Given the description of an element on the screen output the (x, y) to click on. 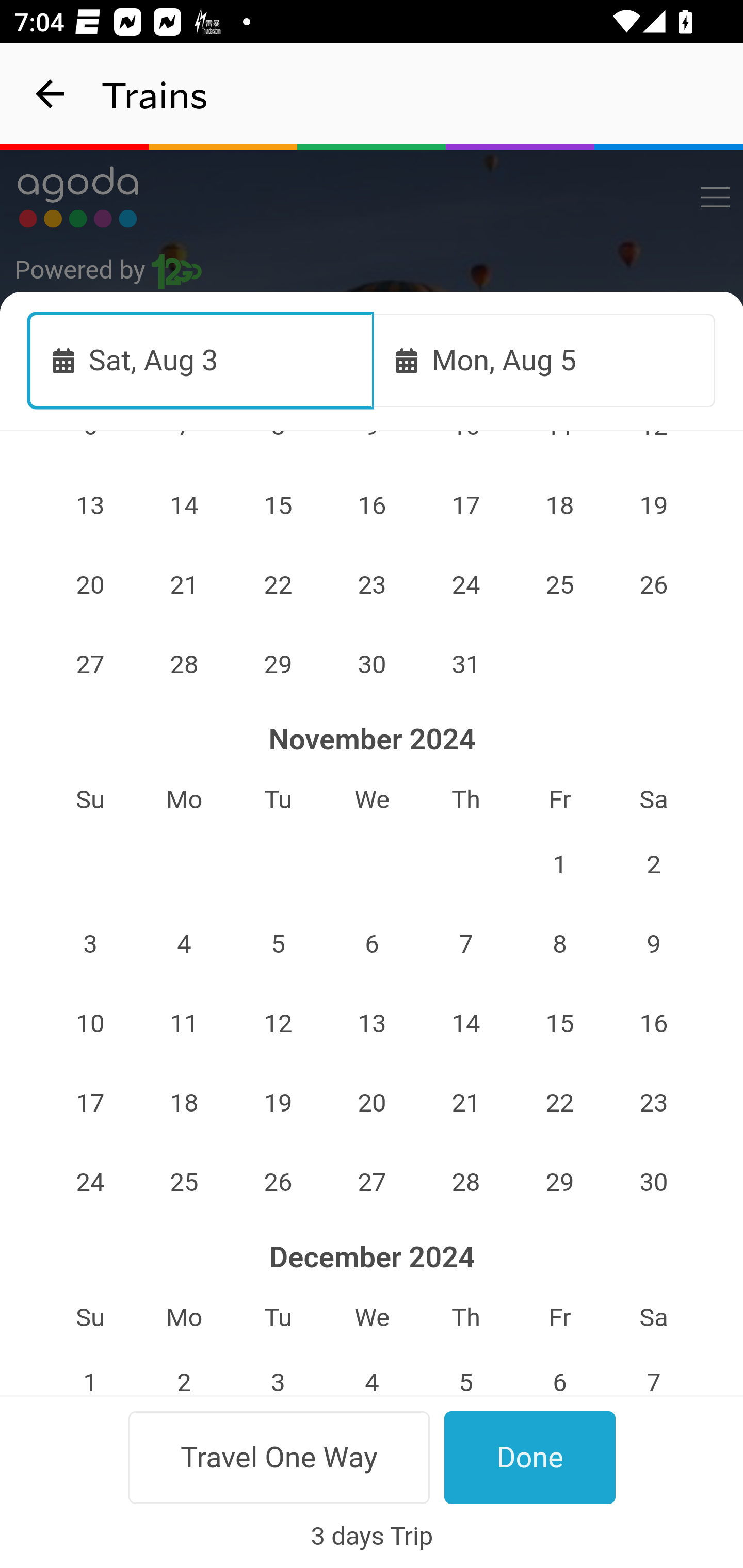
navigation_button (50, 93)
Sat, Aug 3 (200, 359)
Mon, Aug 5 (544, 359)
13 (90, 505)
14 (184, 505)
15 (278, 505)
16 (372, 505)
17 (465, 505)
18 (559, 505)
19 (654, 505)
20 (90, 585)
21 (184, 585)
22 (278, 585)
23 (372, 585)
24 (465, 585)
25 (559, 585)
26 (654, 585)
27 (90, 663)
28 (184, 663)
29 (278, 663)
30 (372, 663)
31 (465, 663)
1 (559, 864)
2 (654, 864)
3 (90, 944)
4 (184, 944)
5 (278, 944)
6 (372, 944)
7 (465, 944)
8 (559, 944)
9 (654, 944)
10 (90, 1022)
11 (184, 1022)
12 (278, 1022)
13 (372, 1022)
14 (465, 1022)
15 (559, 1022)
16 (654, 1022)
17 (90, 1102)
18 (184, 1102)
19 (278, 1102)
20 (372, 1102)
21 (465, 1102)
22 (559, 1102)
23 (654, 1102)
24 (90, 1182)
25 (184, 1182)
26 (278, 1182)
27 (372, 1182)
